Given the description of an element on the screen output the (x, y) to click on. 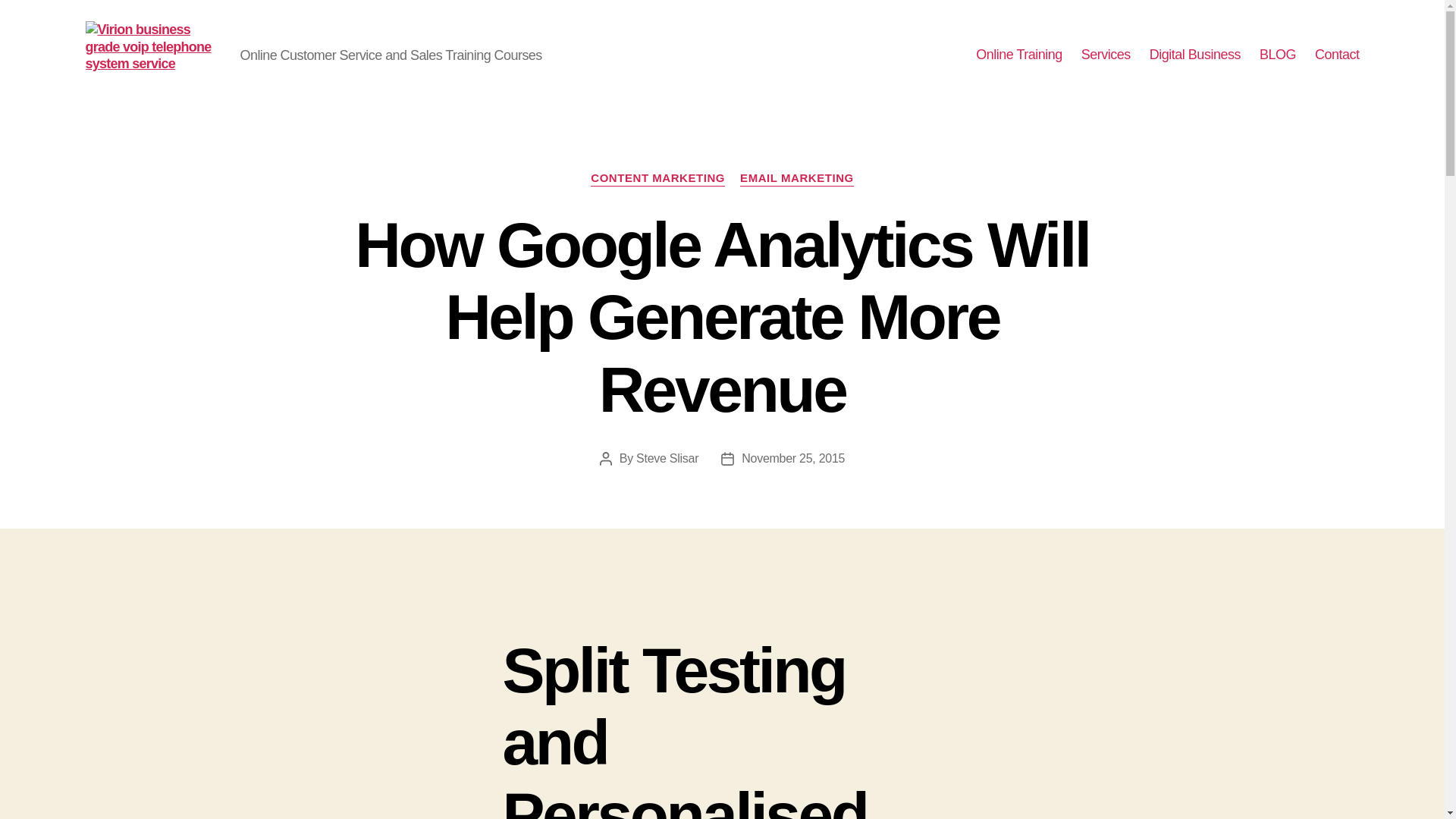
November 25, 2015 (792, 458)
CONTENT MARKETING (658, 178)
Contact (1336, 54)
Services (1106, 54)
Steve Slisar (667, 458)
Digital Business (1195, 54)
Online Training (1018, 54)
EMAIL MARKETING (796, 178)
BLOG (1277, 54)
